Given the description of an element on the screen output the (x, y) to click on. 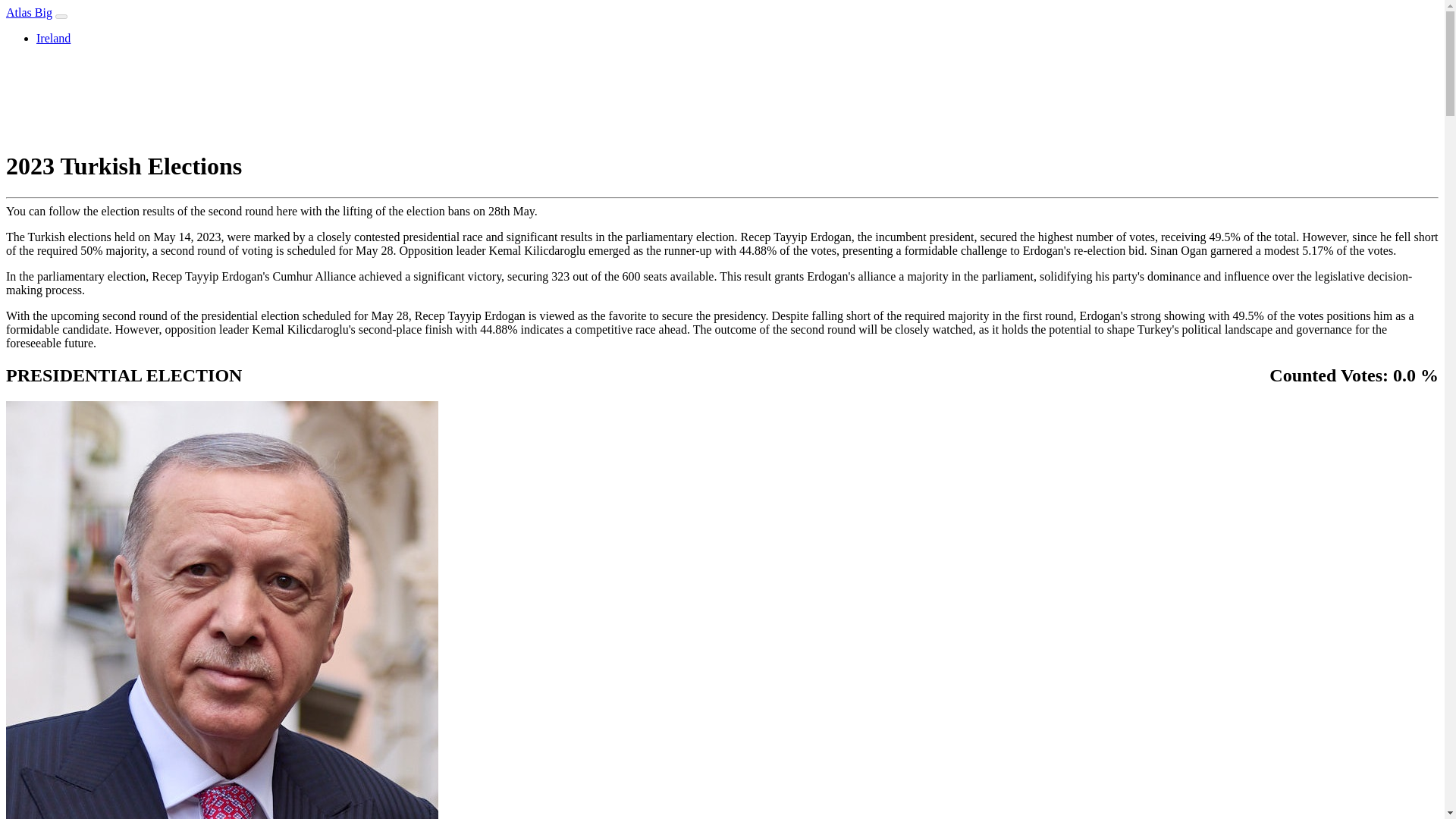
Atlas Big (28, 11)
Advertisement (721, 95)
Ireland (52, 38)
